Given the description of an element on the screen output the (x, y) to click on. 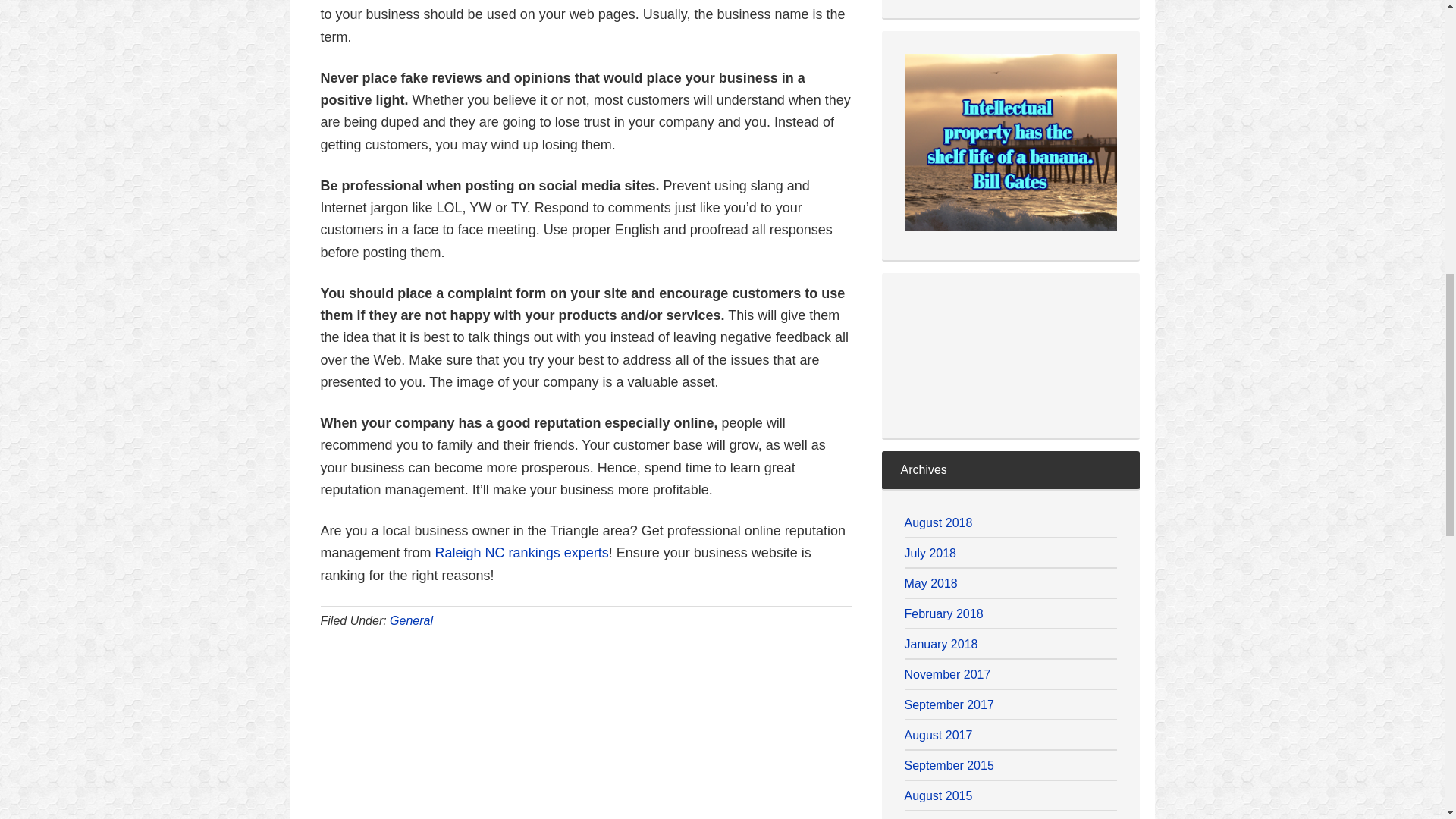
August 2018 (938, 522)
Raleigh NC rankings experts (521, 552)
September 2017 (948, 704)
August 2015 (938, 795)
August 2017 (938, 735)
May 2018 (930, 583)
General (411, 620)
November 2017 (947, 674)
September 2015 (948, 765)
January 2018 (940, 644)
July 2018 (930, 553)
February 2018 (943, 613)
